Given the description of an element on the screen output the (x, y) to click on. 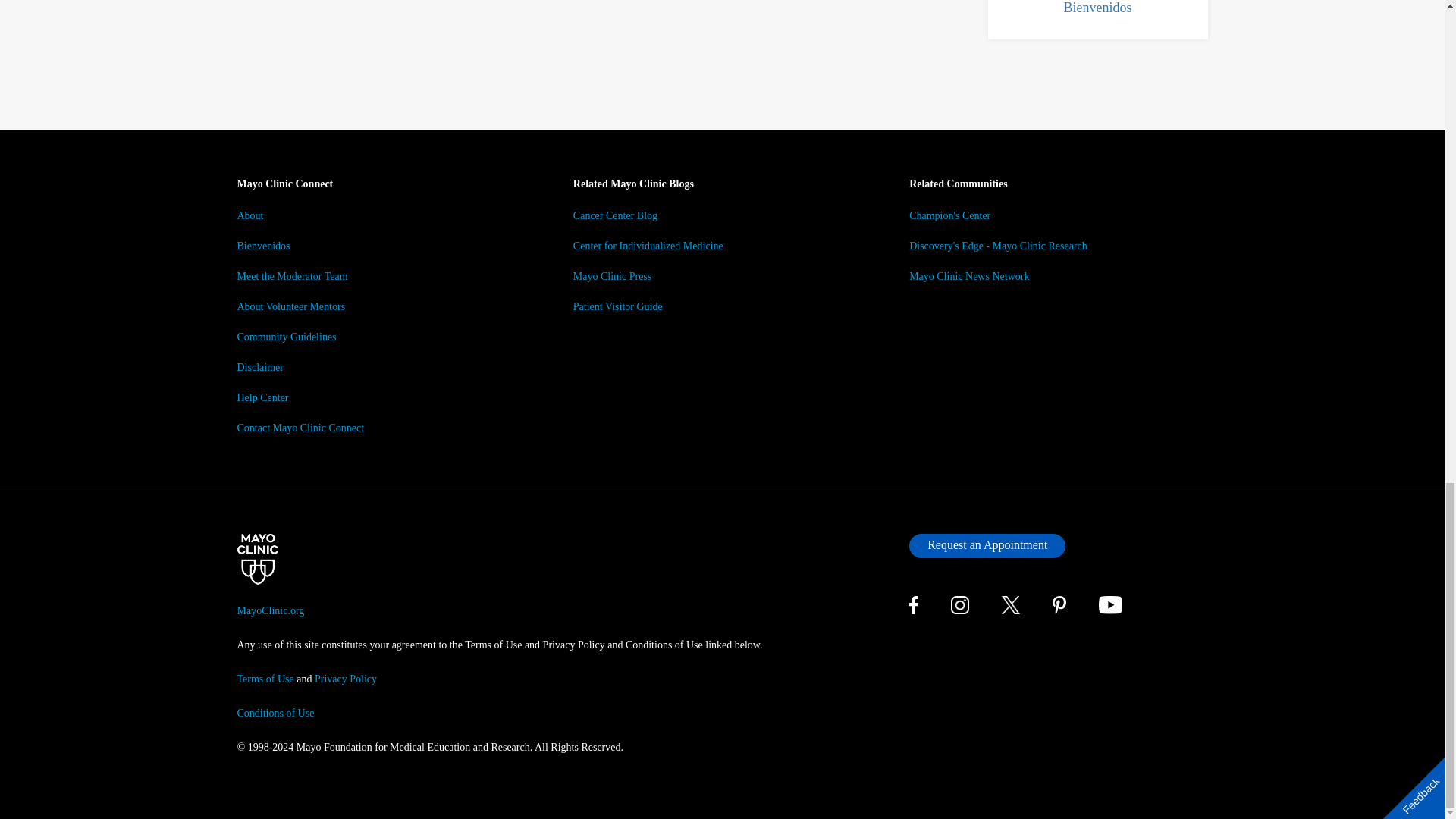
Champion's Center (949, 215)
Disclaimer (258, 367)
Discovery's Edge - Mayo Clinic Research (997, 245)
Help Center (261, 397)
Cancer Center Blog (615, 215)
Center for Individualized Medicine (648, 245)
Community Guidelines (285, 337)
Contact Mayo Clinic Connect (299, 428)
Mayo Clinic Press (611, 276)
About (249, 215)
Meet the Moderator Team (291, 276)
Bienvenidos (1096, 7)
Bienvenidos (262, 245)
Patient Visitor Guide (617, 306)
About Volunteer Mentors (290, 306)
